Given the description of an element on the screen output the (x, y) to click on. 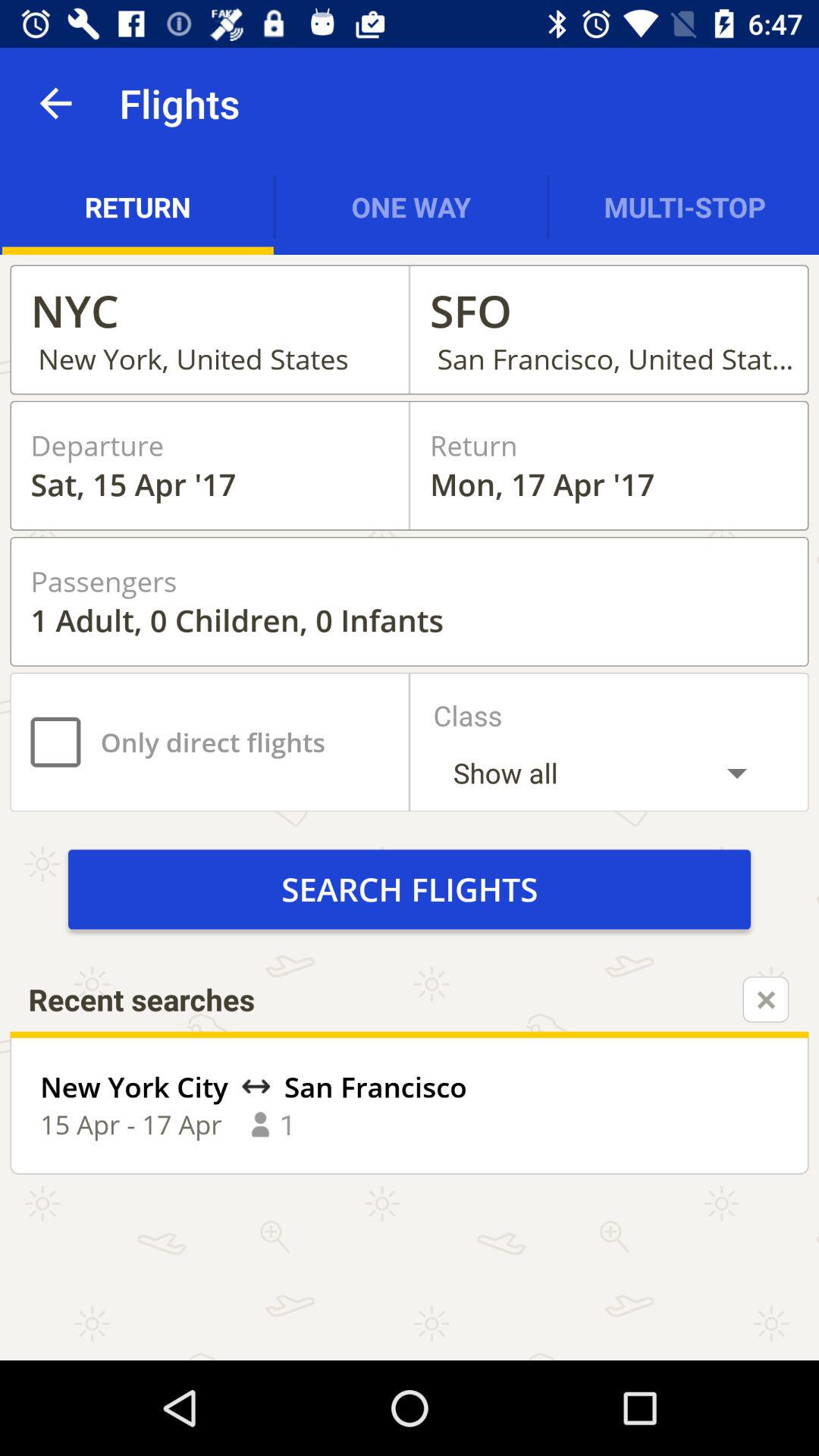
close recent searches (765, 999)
